Given the description of an element on the screen output the (x, y) to click on. 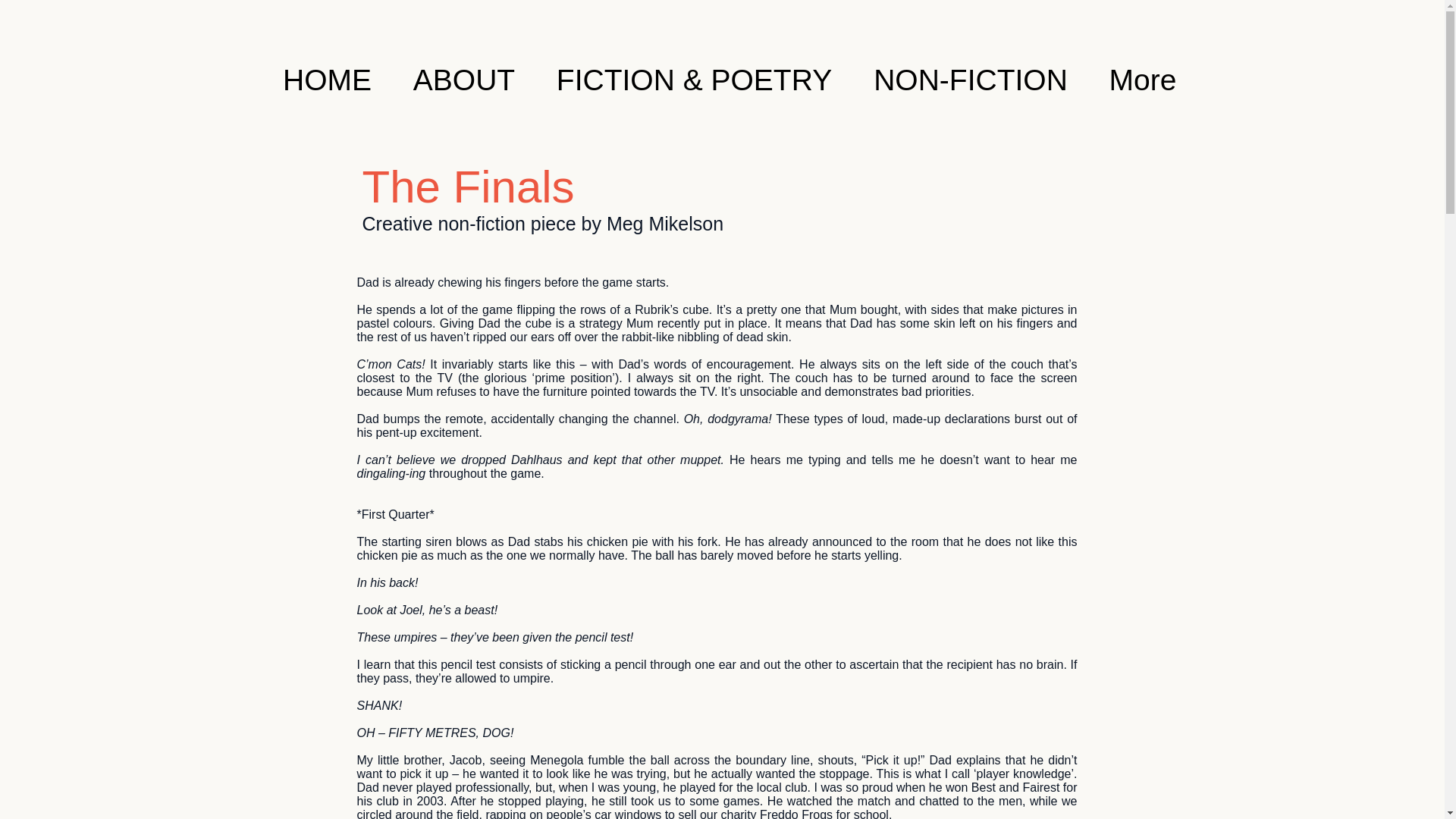
NON-FICTION (969, 79)
HOME (327, 79)
ABOUT (464, 79)
